Given the description of an element on the screen output the (x, y) to click on. 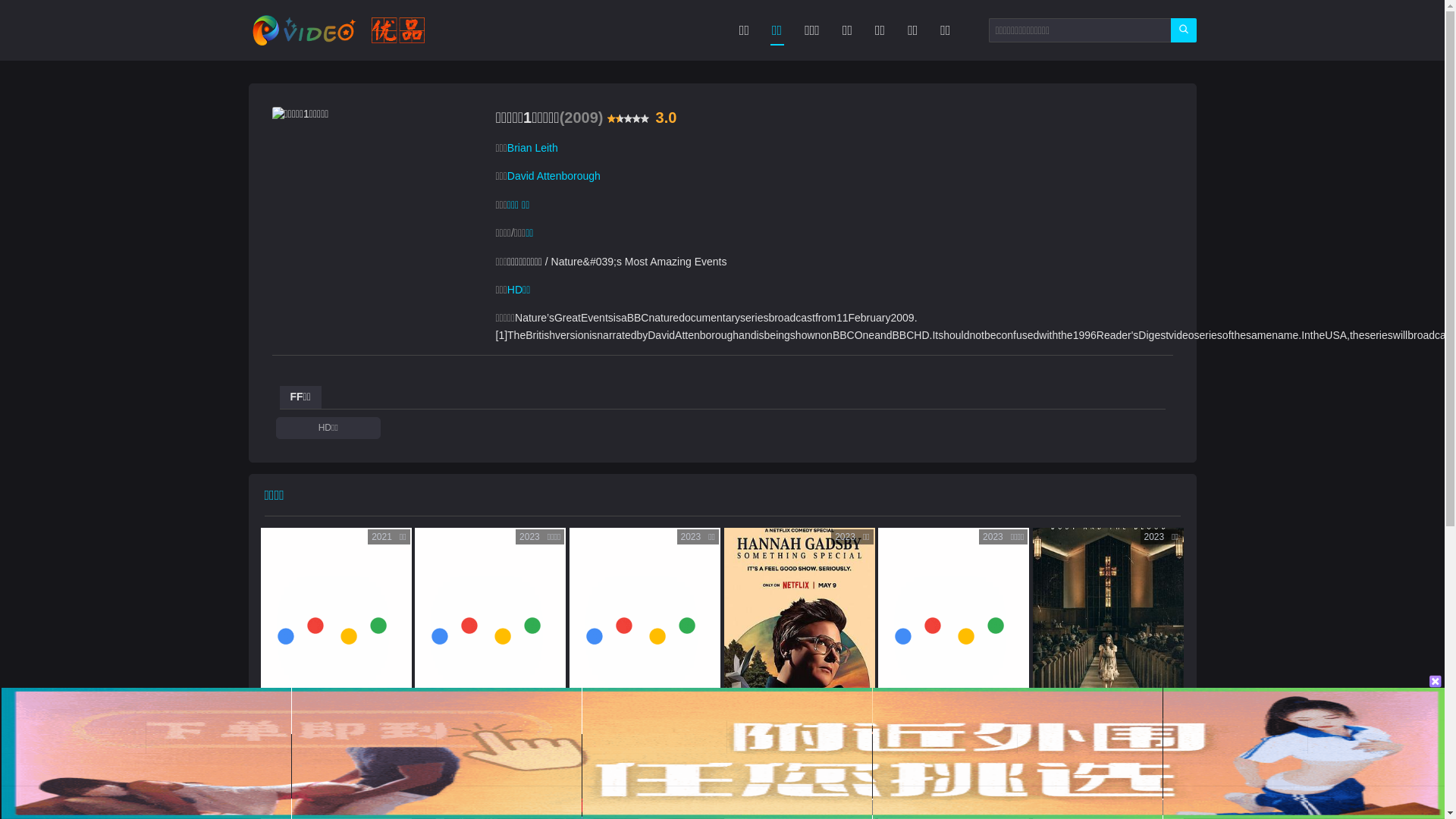
Brian Leith Element type: text (532, 147)
David Attenborough Element type: text (553, 175)
